Given the description of an element on the screen output the (x, y) to click on. 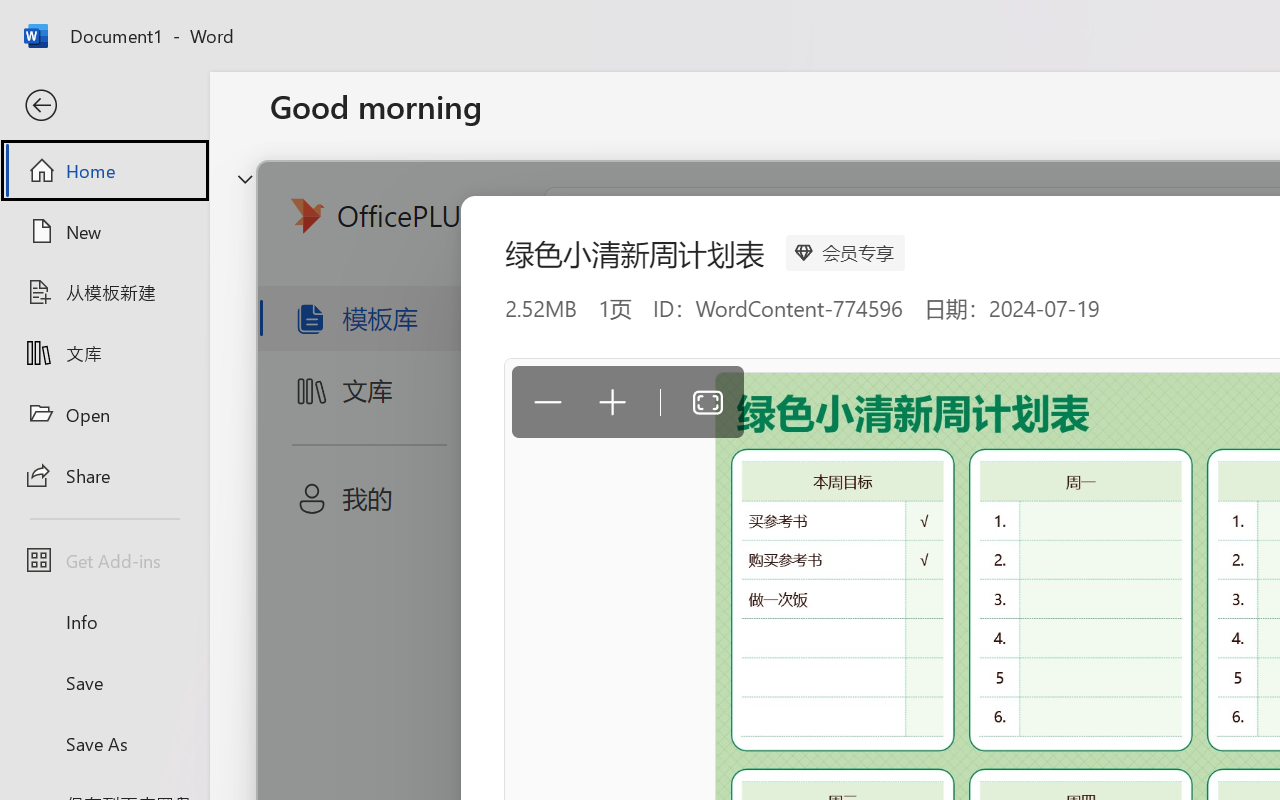
Save As (104, 743)
Recent (316, 636)
Shared with Me (563, 636)
Pinned (417, 636)
Get Add-ins (104, 560)
New (104, 231)
Back (104, 106)
